Given the description of an element on the screen output the (x, y) to click on. 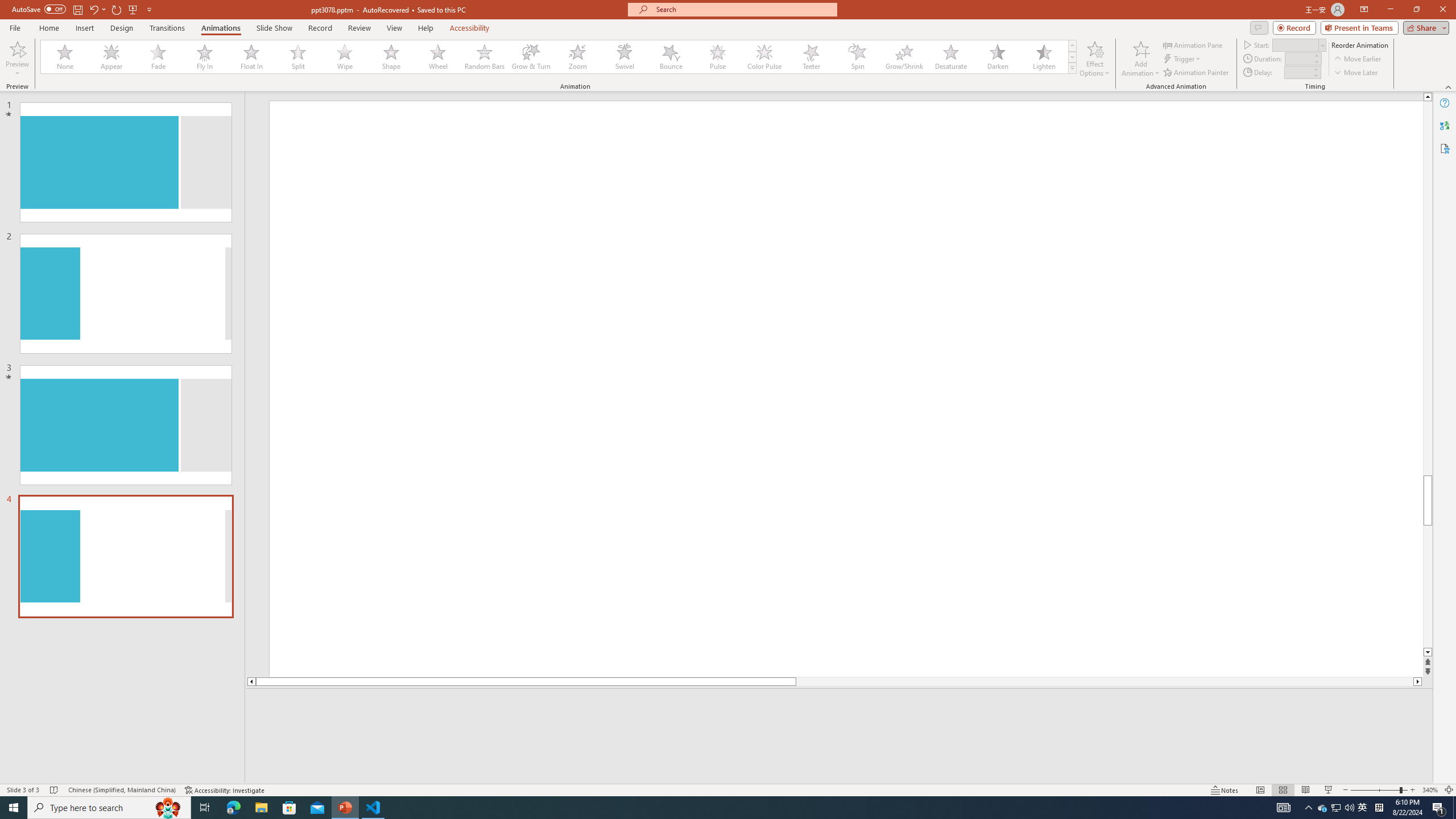
Animation Styles (1071, 67)
Shape (391, 56)
Darken (997, 56)
Move Later (1355, 72)
Animation Delay (1297, 72)
Appear (111, 56)
